Given the description of an element on the screen output the (x, y) to click on. 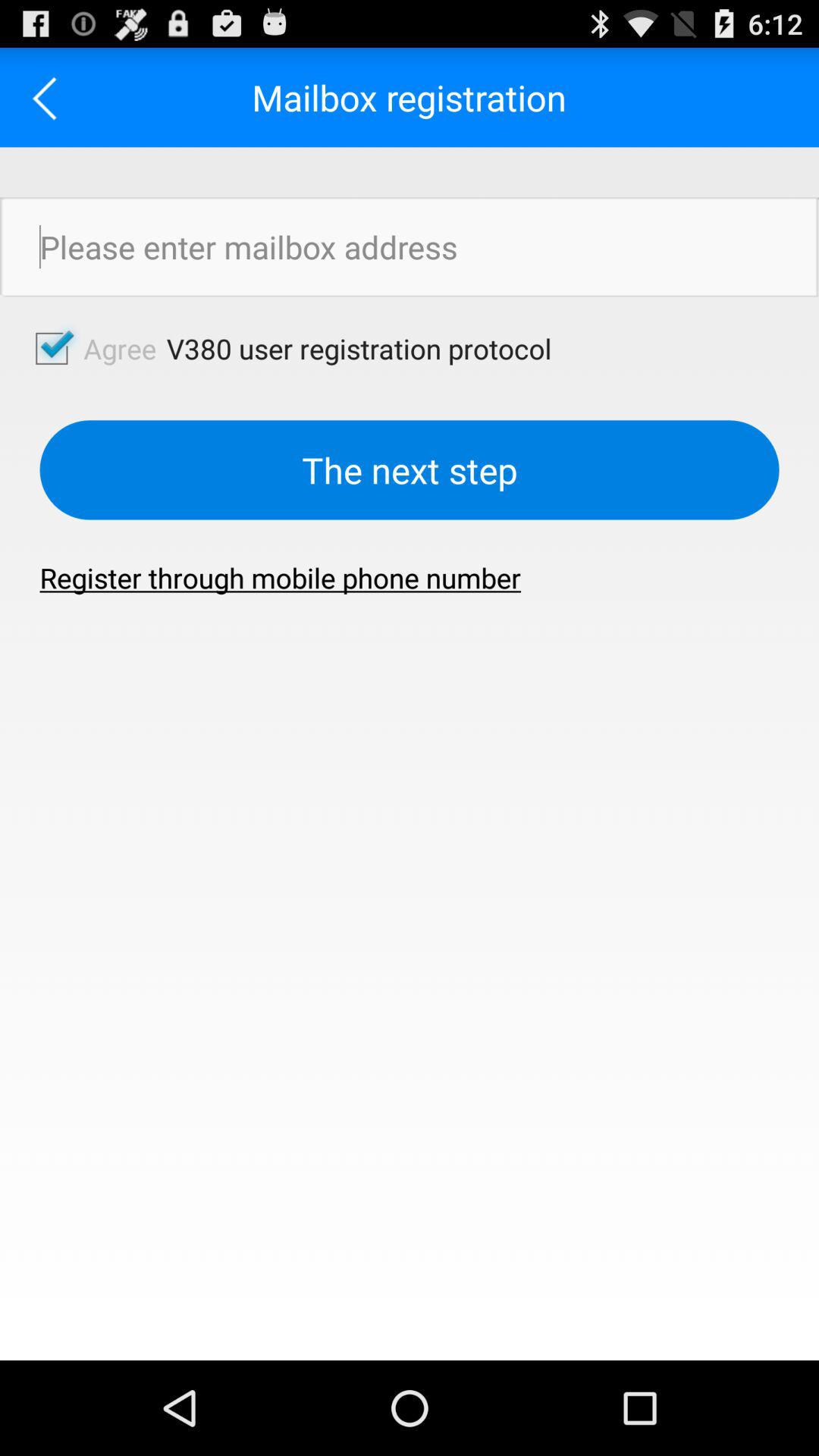
scroll to the next step item (409, 469)
